Given the description of an element on the screen output the (x, y) to click on. 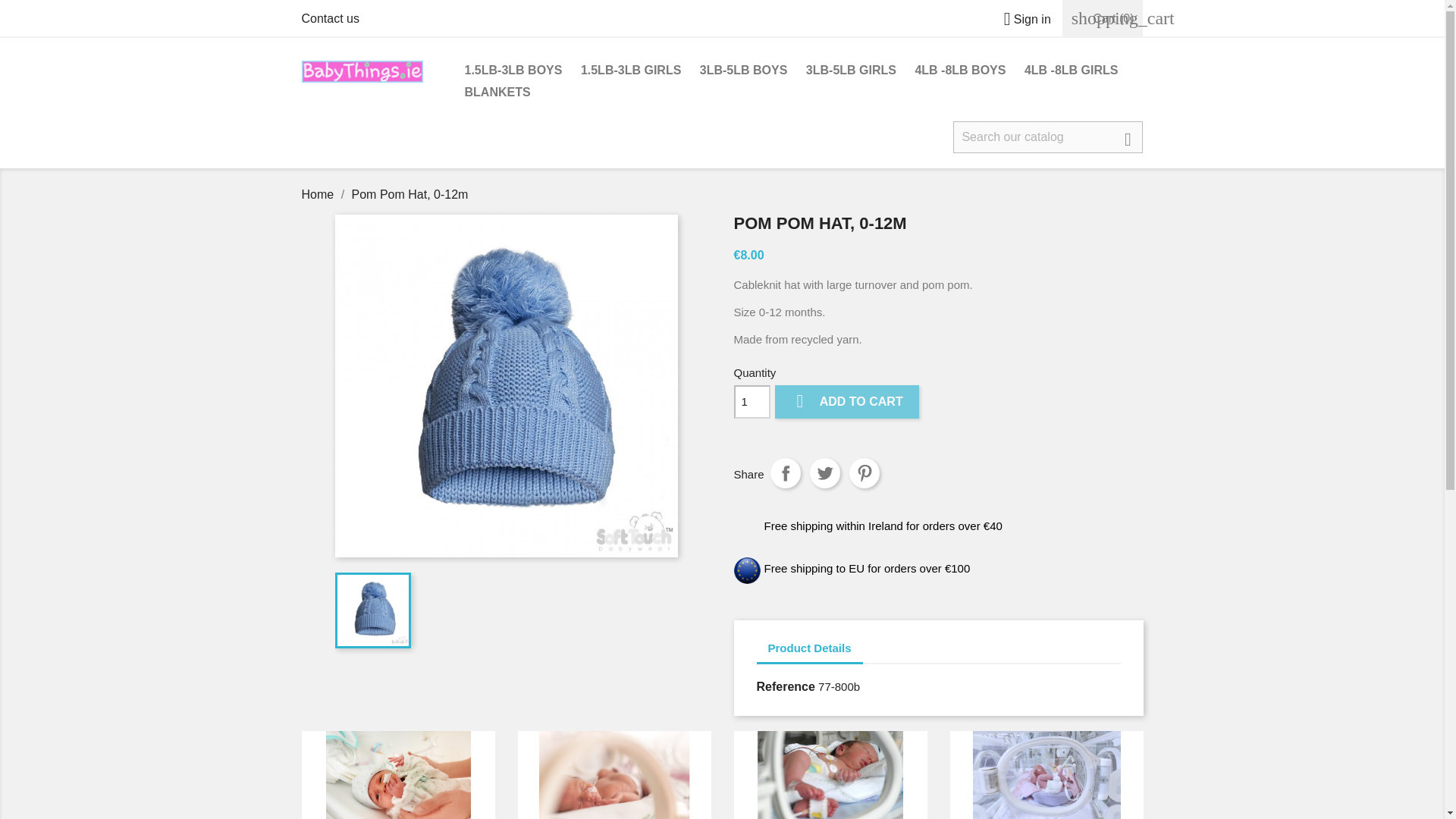
BLANKETS (497, 93)
1 (751, 401)
Log in to your customer account (1020, 19)
1.5lb-3lb BOYS (398, 775)
Tweet (824, 472)
Share (785, 472)
4LB -8LB GIRLS (1070, 71)
Contact us (330, 18)
Pom Pom Hat, 0-12m (410, 194)
Product Details (810, 649)
